Given the description of an element on the screen output the (x, y) to click on. 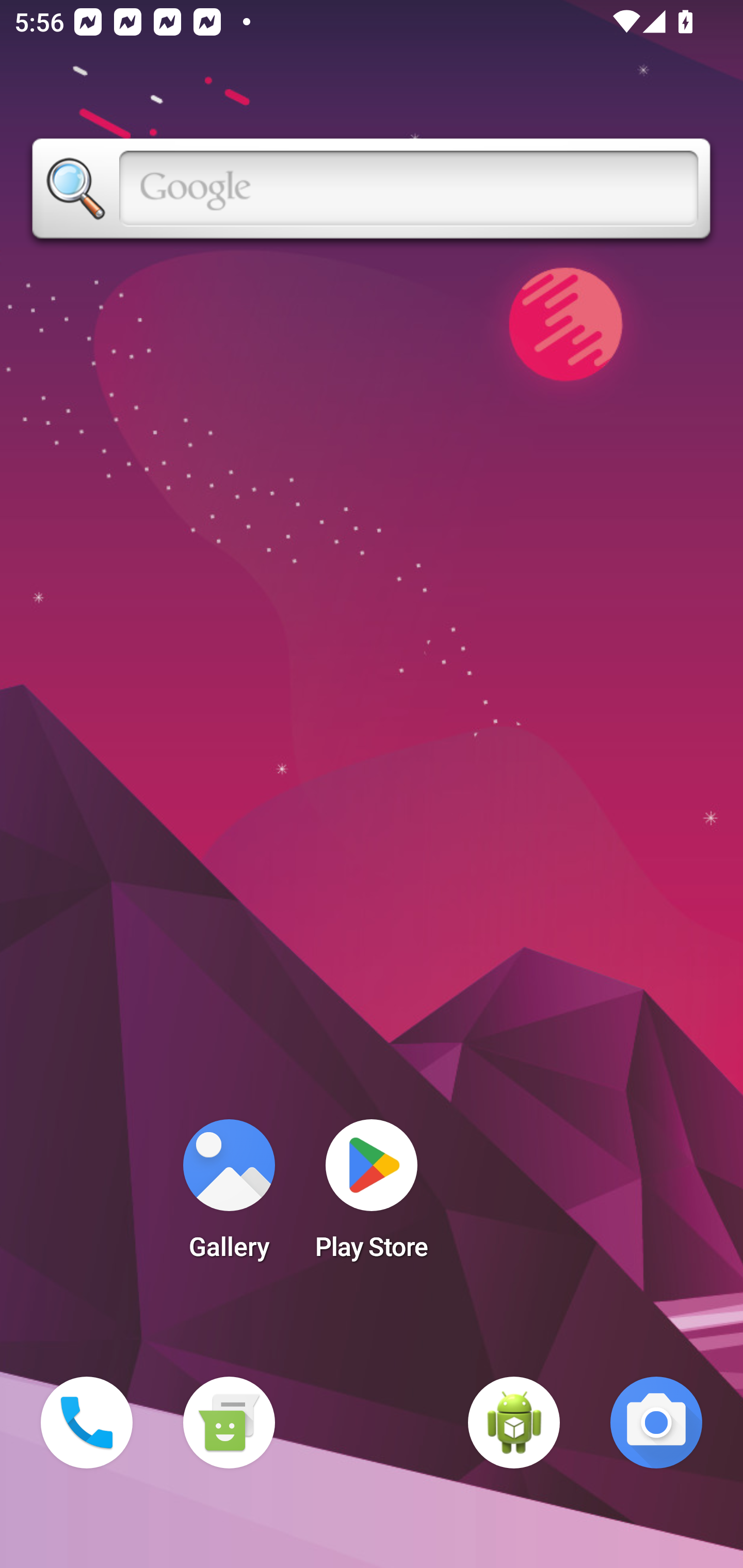
Gallery (228, 1195)
Play Store (371, 1195)
Phone (86, 1422)
Messaging (228, 1422)
WebView Browser Tester (513, 1422)
Camera (656, 1422)
